Given the description of an element on the screen output the (x, y) to click on. 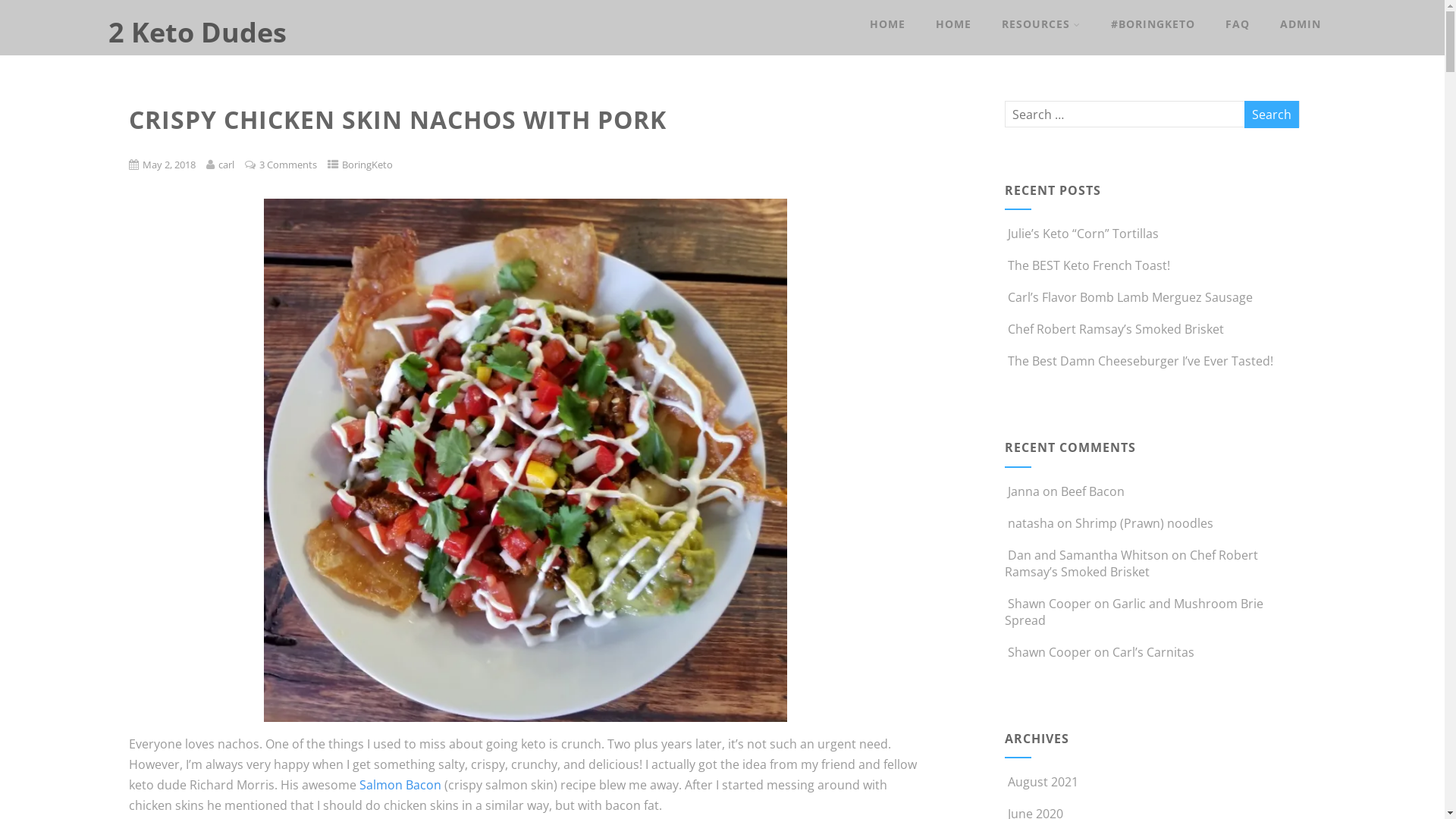
Shrimp (Prawn) noodles Element type: text (1144, 522)
BoringKeto Element type: text (367, 164)
#BORINGKETO Element type: text (1152, 23)
RESOURCES Element type: text (1040, 24)
Dan and Samantha Whitson Element type: text (1087, 554)
Garlic and Mushroom Brie Spread Element type: text (1133, 611)
carl Element type: text (226, 164)
ADMIN Element type: text (1300, 23)
August 2021 Element type: text (1042, 781)
The BEST Keto French Toast! Element type: text (1087, 265)
HOME Element type: text (953, 23)
3 Comments Element type: text (287, 164)
May 2, 2018 Element type: text (168, 164)
Search Element type: text (1271, 114)
HOME Element type: text (887, 23)
Beef Bacon Element type: text (1092, 491)
Salmon Bacon Element type: text (400, 784)
FAQ Element type: text (1237, 23)
2 Keto Dudes Element type: text (197, 31)
